Given the description of an element on the screen output the (x, y) to click on. 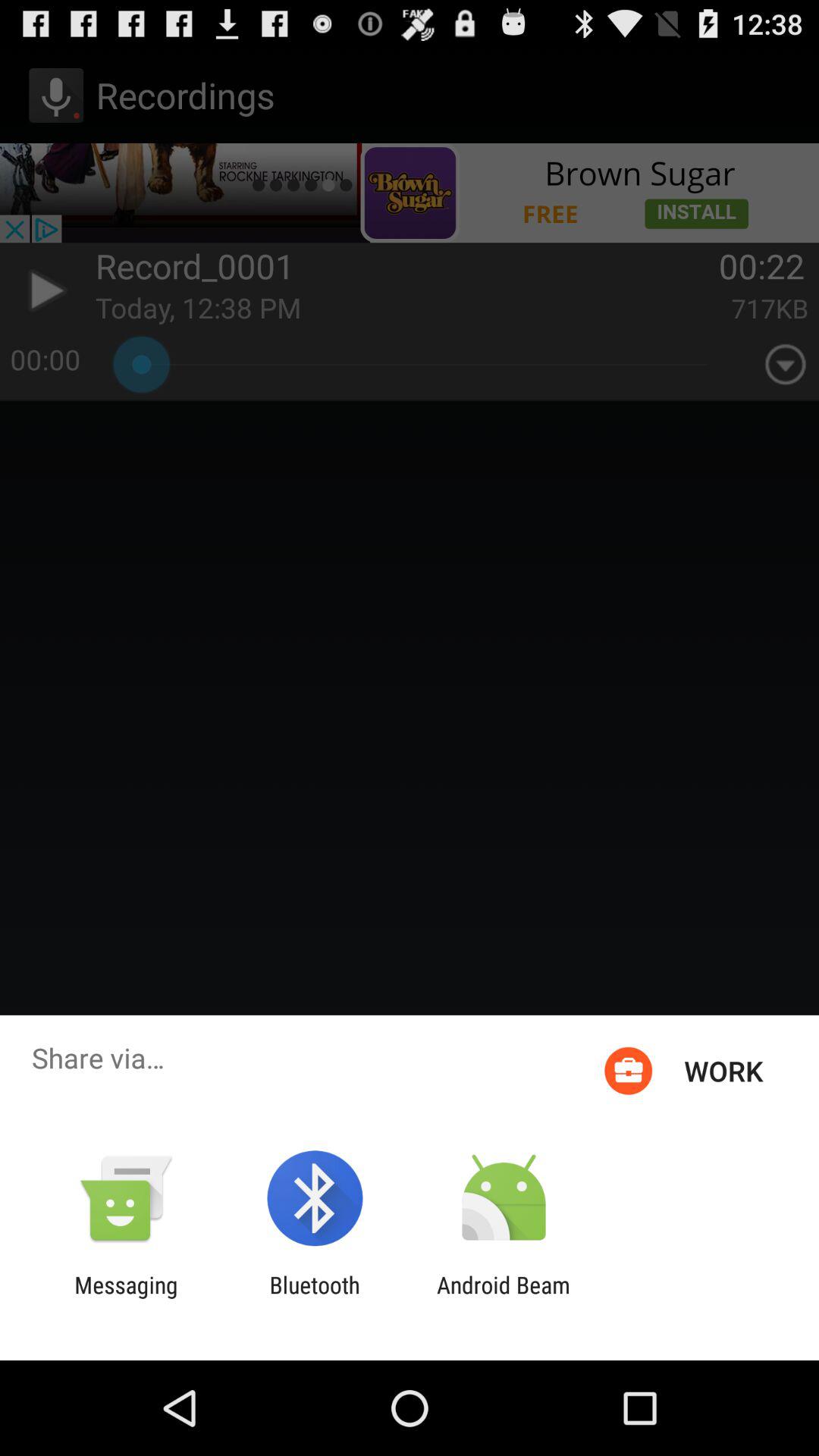
press the messaging icon (126, 1298)
